Given the description of an element on the screen output the (x, y) to click on. 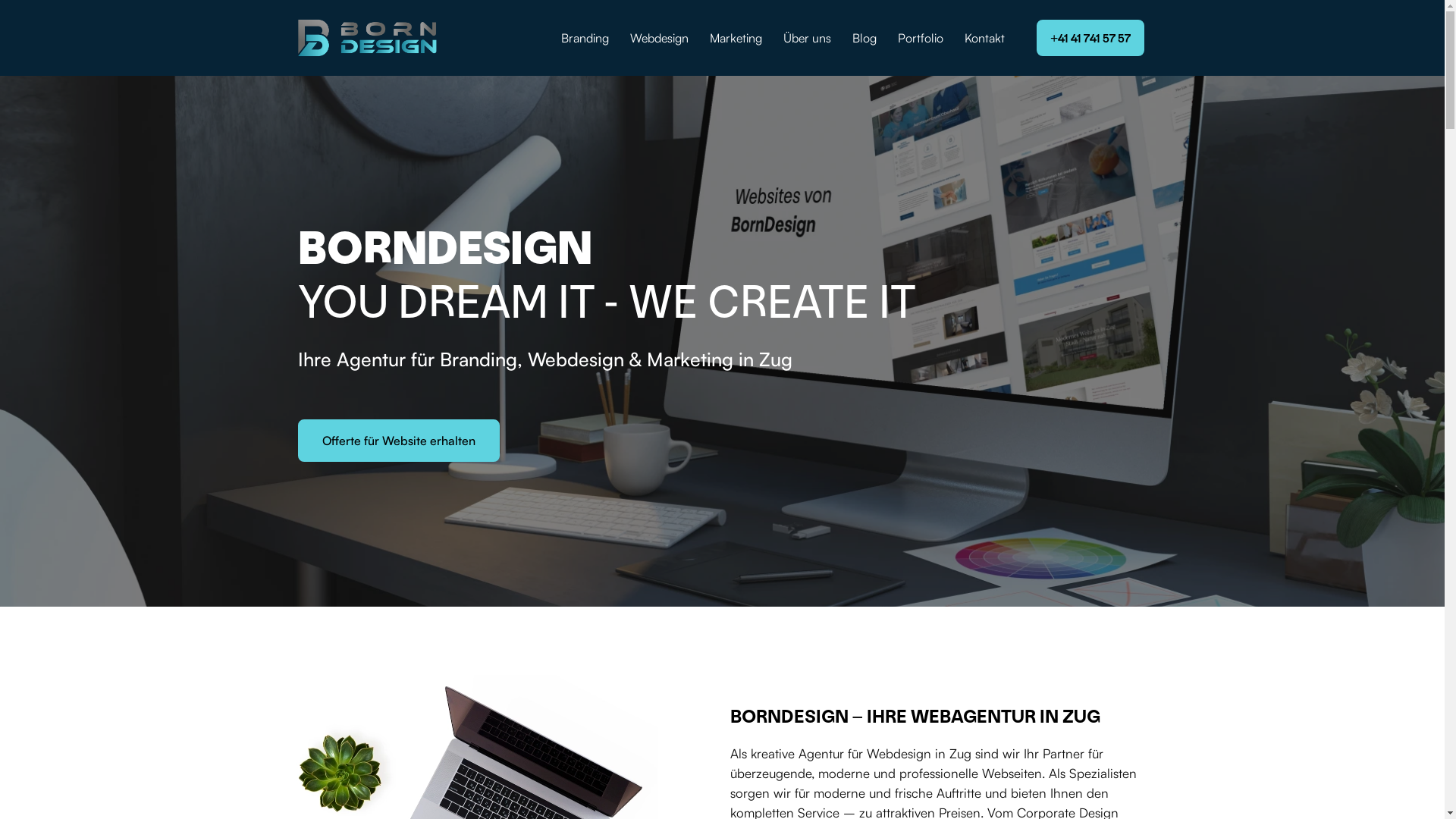
Portfolio Element type: text (920, 37)
Webdesign Element type: text (659, 37)
Branding Element type: text (584, 37)
Blog Element type: text (864, 37)
Marketing Element type: text (735, 37)
+41 41 741 57 57 Element type: text (1090, 37)
Kontakt Element type: text (984, 37)
